Given the description of an element on the screen output the (x, y) to click on. 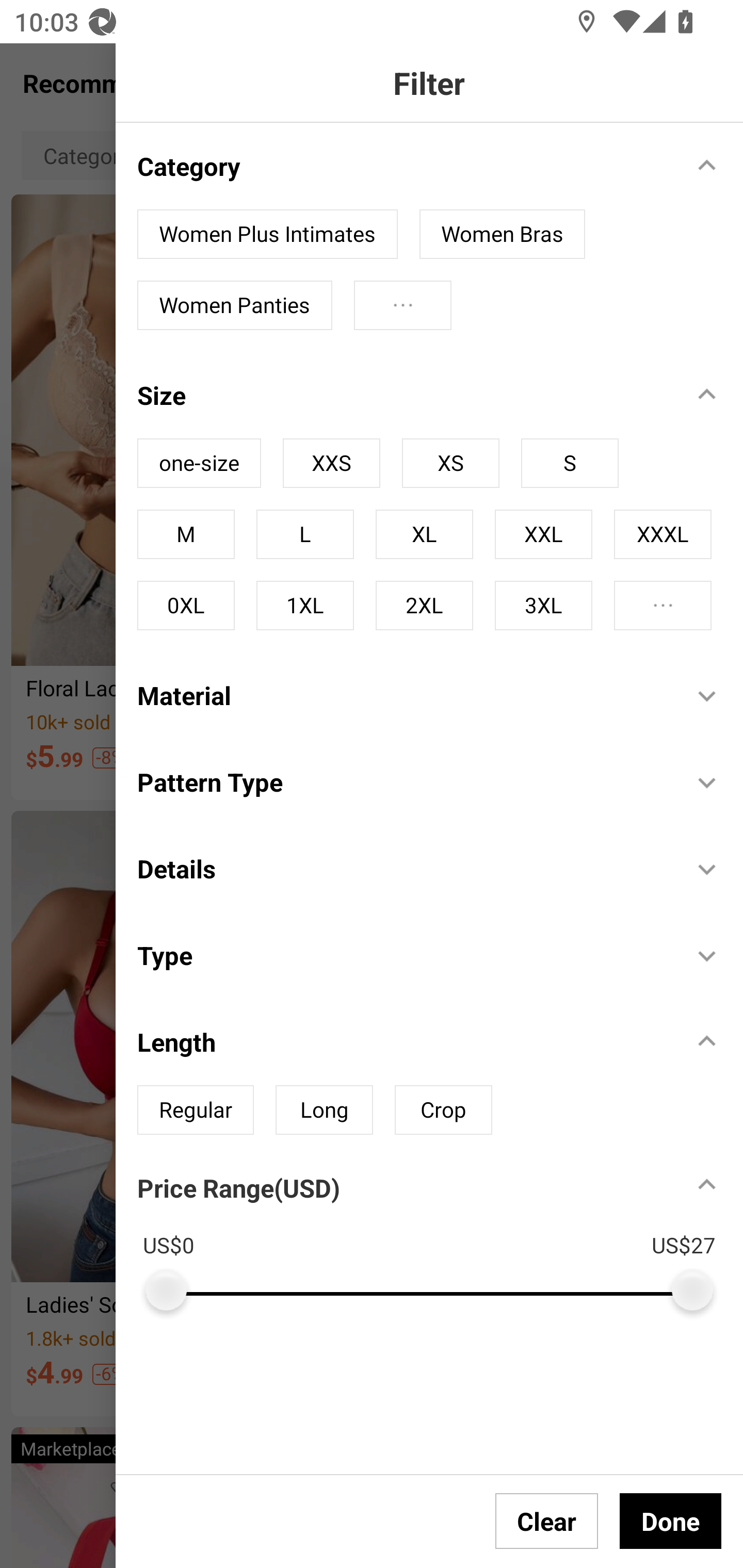
Category (403, 166)
Women Plus Intimates (267, 234)
Women Bras (502, 234)
Women Panties (234, 305)
Size (403, 395)
one-size (198, 463)
XXS (331, 463)
XS (450, 463)
S (569, 463)
M (185, 534)
L (304, 534)
XL (424, 534)
XXL (543, 534)
XXXL (662, 534)
0XL (185, 605)
1XL (304, 605)
2XL (424, 605)
3XL (543, 605)
Material (403, 695)
Pattern Type (403, 781)
Details (440, 857)
Details (403, 868)
Type (403, 954)
Length (403, 1041)
Regular (195, 1110)
Long (323, 1110)
Crop (442, 1110)
Price Range(USD) US$0 US$27 (440, 1233)
Price Range(USD) (238, 1187)
ADD TO CART (683, 1255)
Clear (546, 1520)
Done (670, 1520)
